Given the description of an element on the screen output the (x, y) to click on. 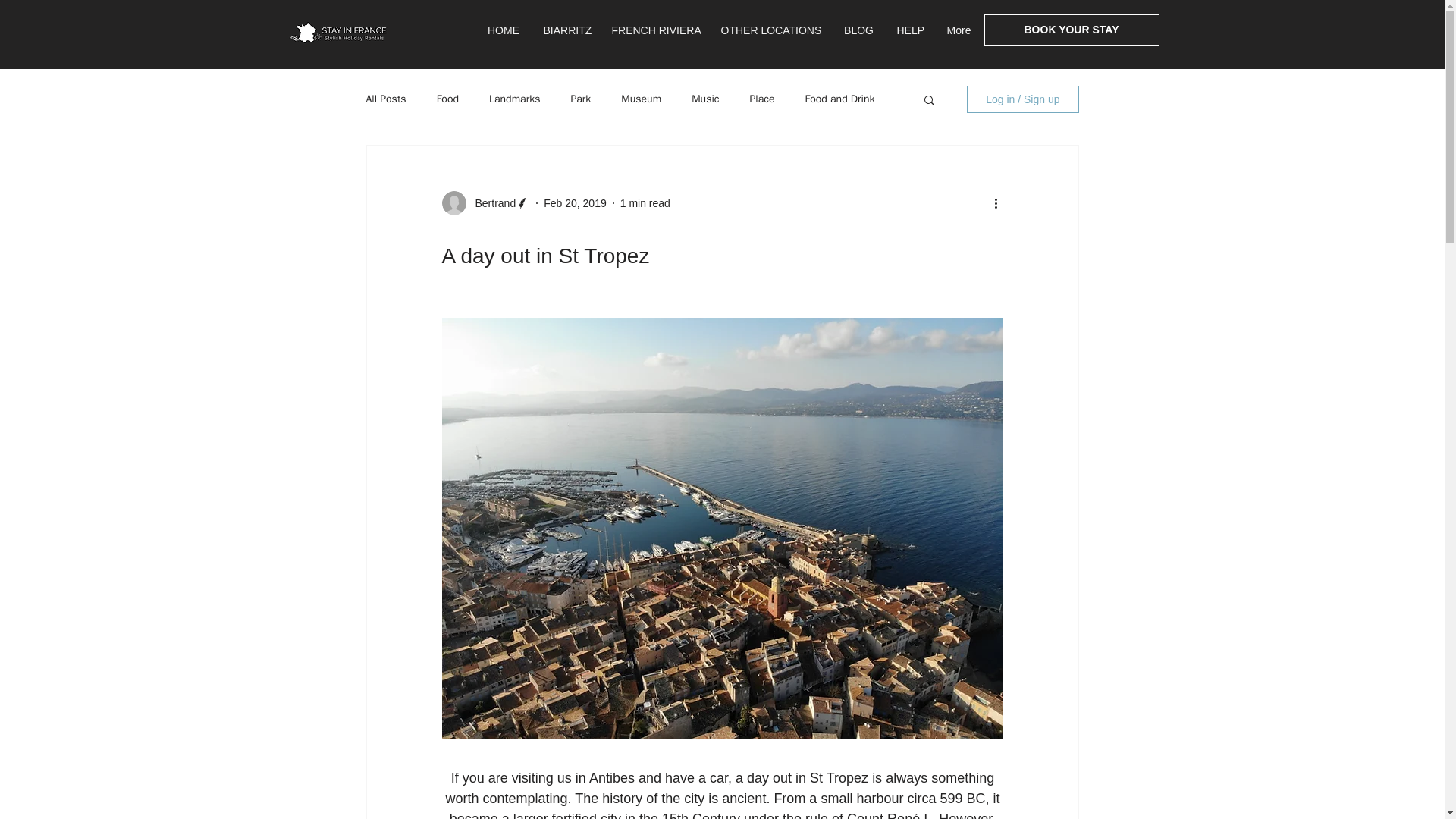
Museum (641, 99)
HELP (910, 29)
FRENCH RIVIERA (654, 29)
Landmarks (514, 99)
All Posts (385, 99)
Food (447, 99)
Food and Drink (840, 99)
1 min read (644, 203)
Music (705, 99)
BOOK YOUR STAY (1071, 29)
BIARRITZ (565, 29)
Park (580, 99)
BLOG (858, 29)
Bertrand (490, 203)
Place (761, 99)
